Given the description of an element on the screen output the (x, y) to click on. 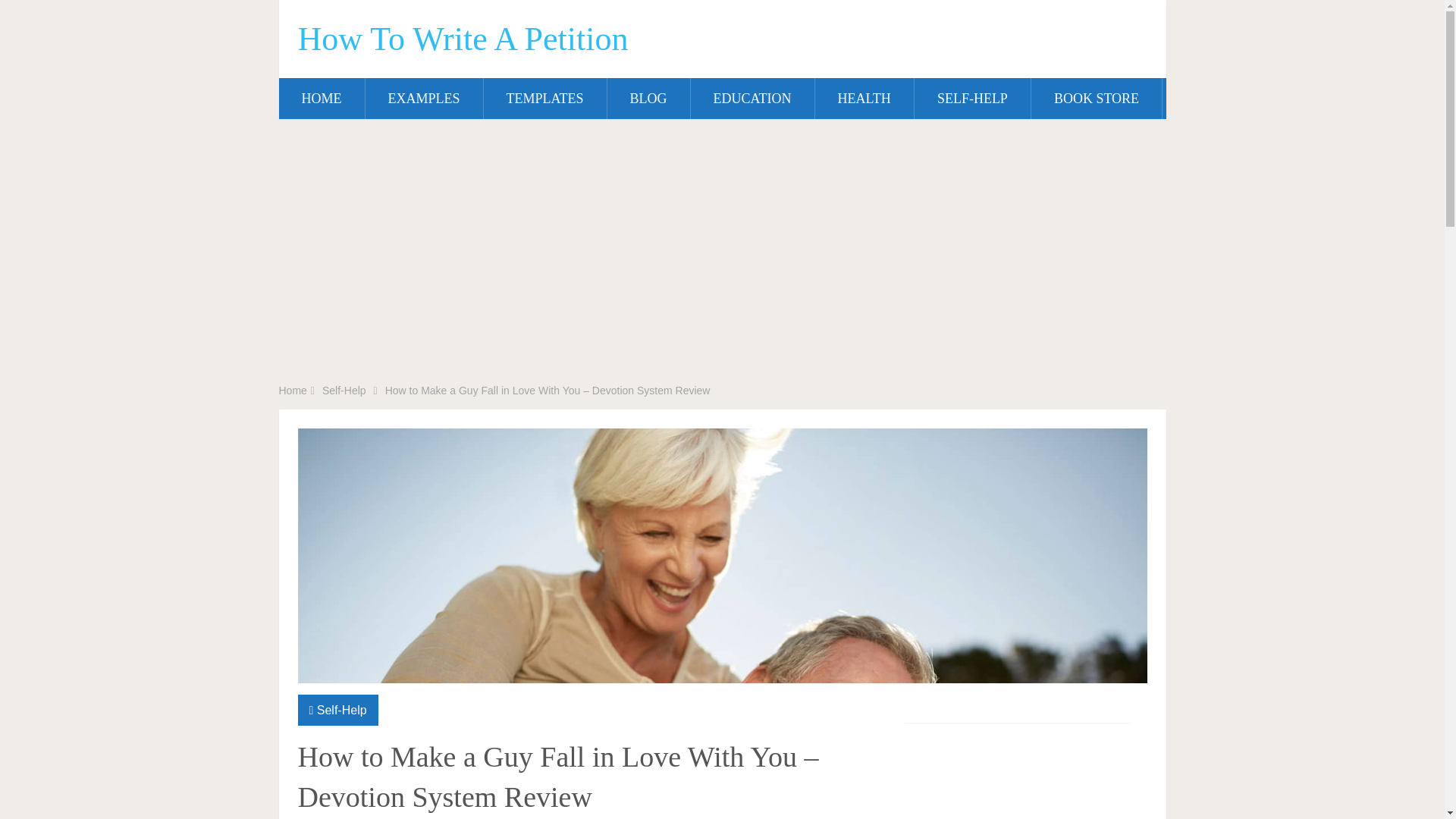
SELF-HELP (972, 97)
View all posts in Self-Help (341, 709)
How To Write A Petition (462, 39)
HEALTH (864, 97)
BLOG (648, 97)
EXAMPLES (424, 97)
Home (293, 390)
HOME (322, 97)
Self-Help (341, 709)
